Given the description of an element on the screen output the (x, y) to click on. 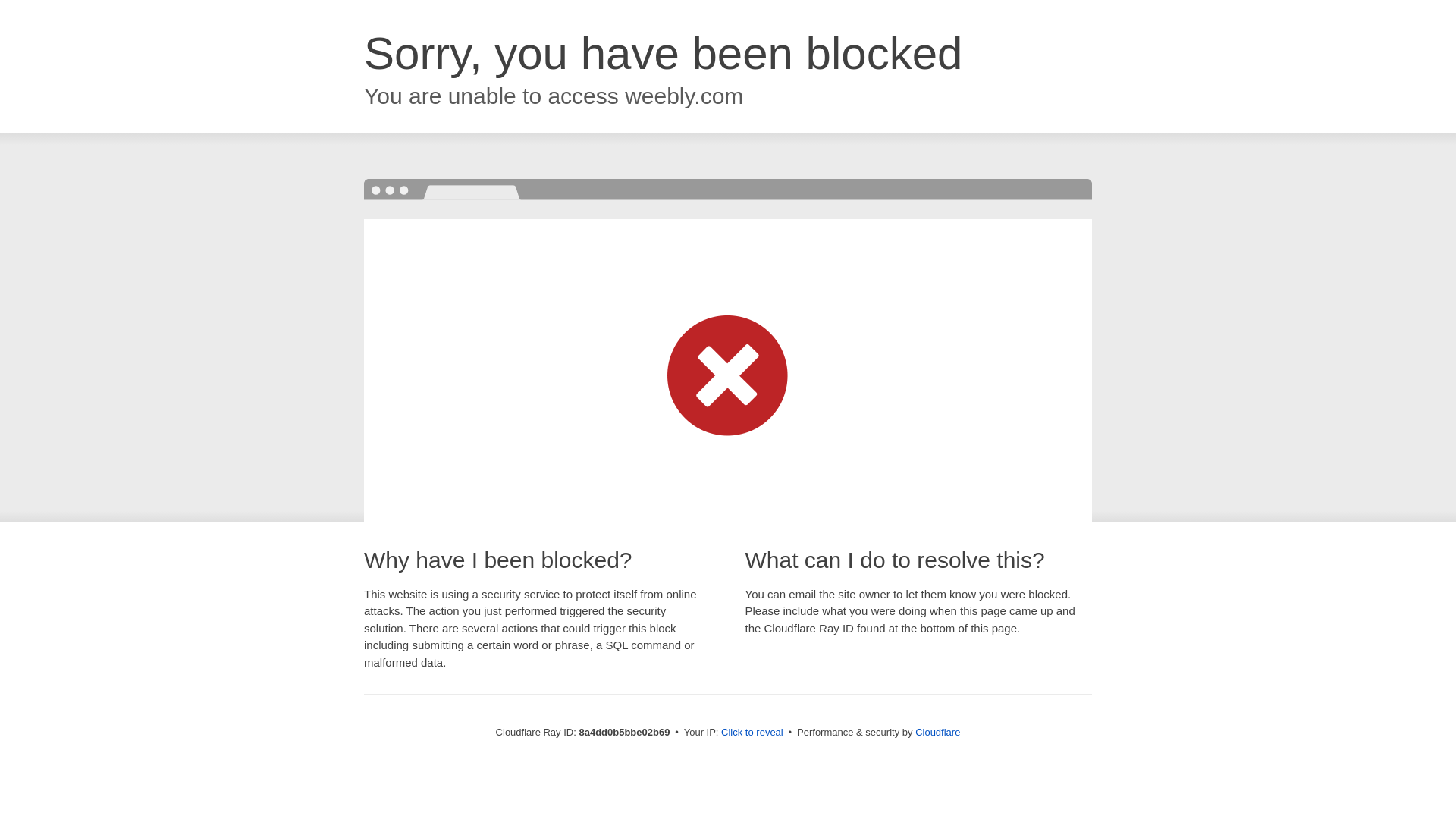
Cloudflare (937, 731)
Click to reveal (751, 732)
